Given the description of an element on the screen output the (x, y) to click on. 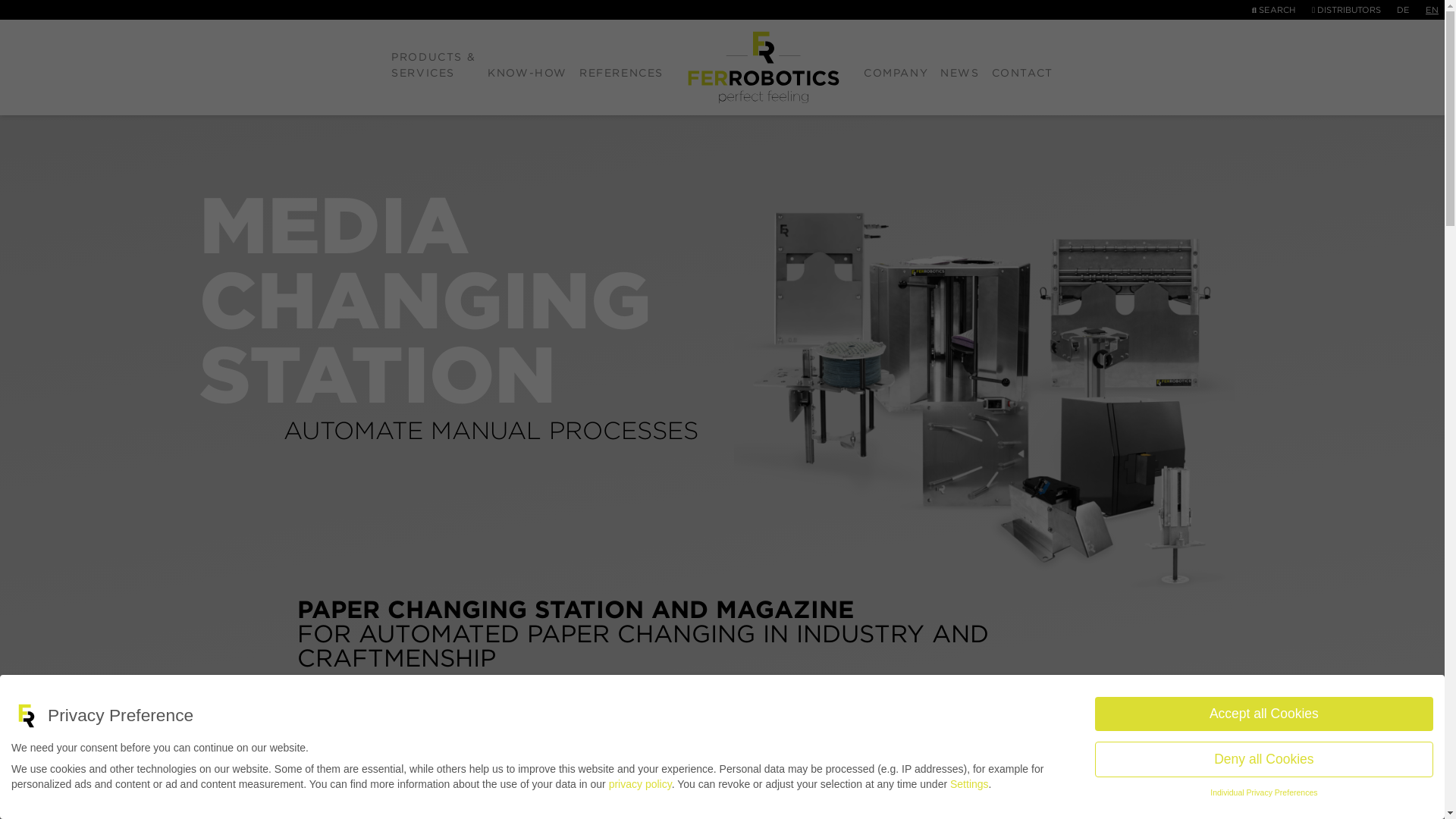
References (621, 67)
SEARCH (1273, 10)
COMPANY (895, 67)
DE (1402, 10)
EN (1431, 10)
Company (895, 67)
REQUEST ADVICE (940, 801)
KNOW-HOW (527, 67)
EN (1431, 10)
CONTACT (1021, 67)
 Distributors (1345, 10)
Know-How (527, 67)
 Search (1273, 10)
DE (1402, 10)
REFERENCES (621, 67)
